Given the description of an element on the screen output the (x, y) to click on. 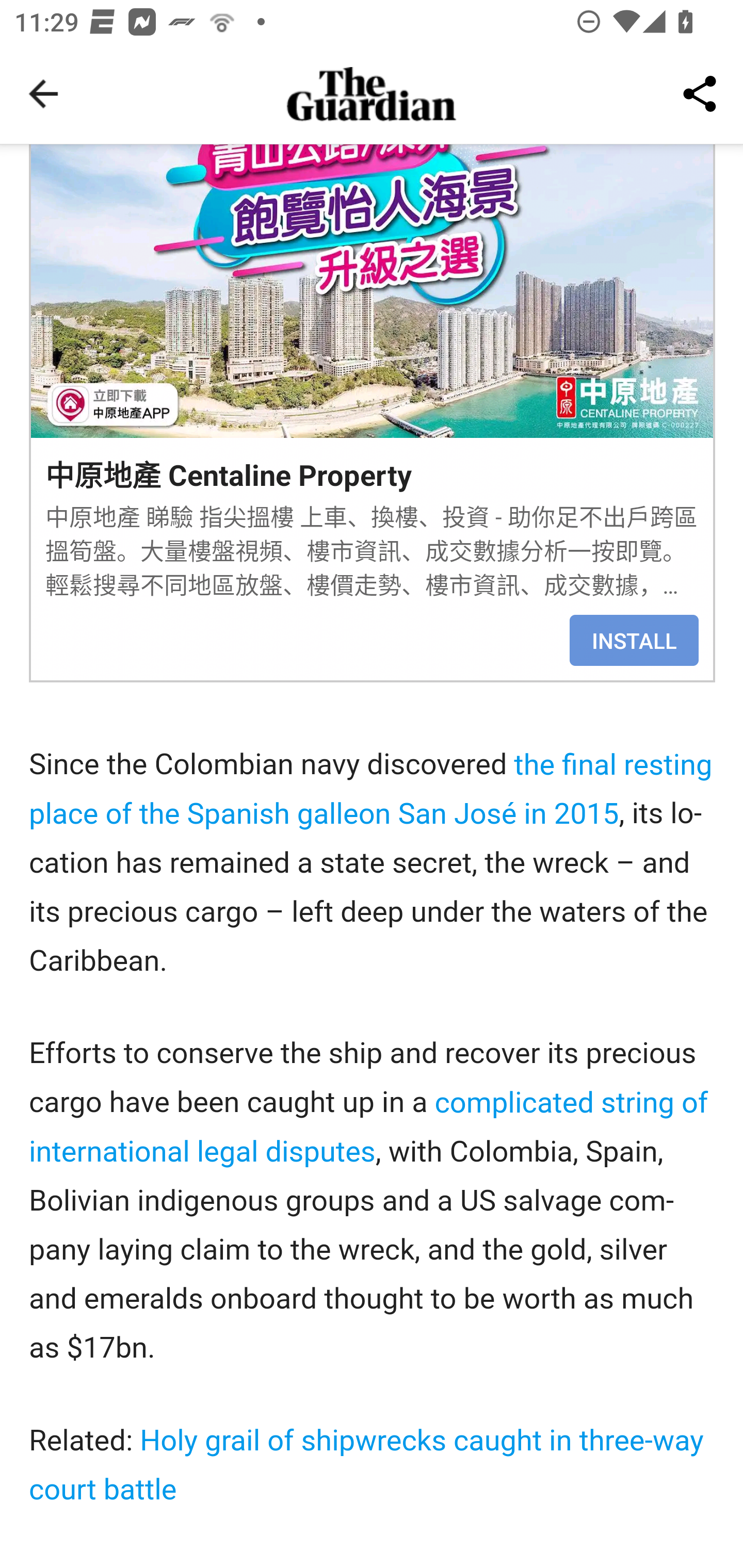
complicated string of international legal disputes (368, 1127)
